Given the description of an element on the screen output the (x, y) to click on. 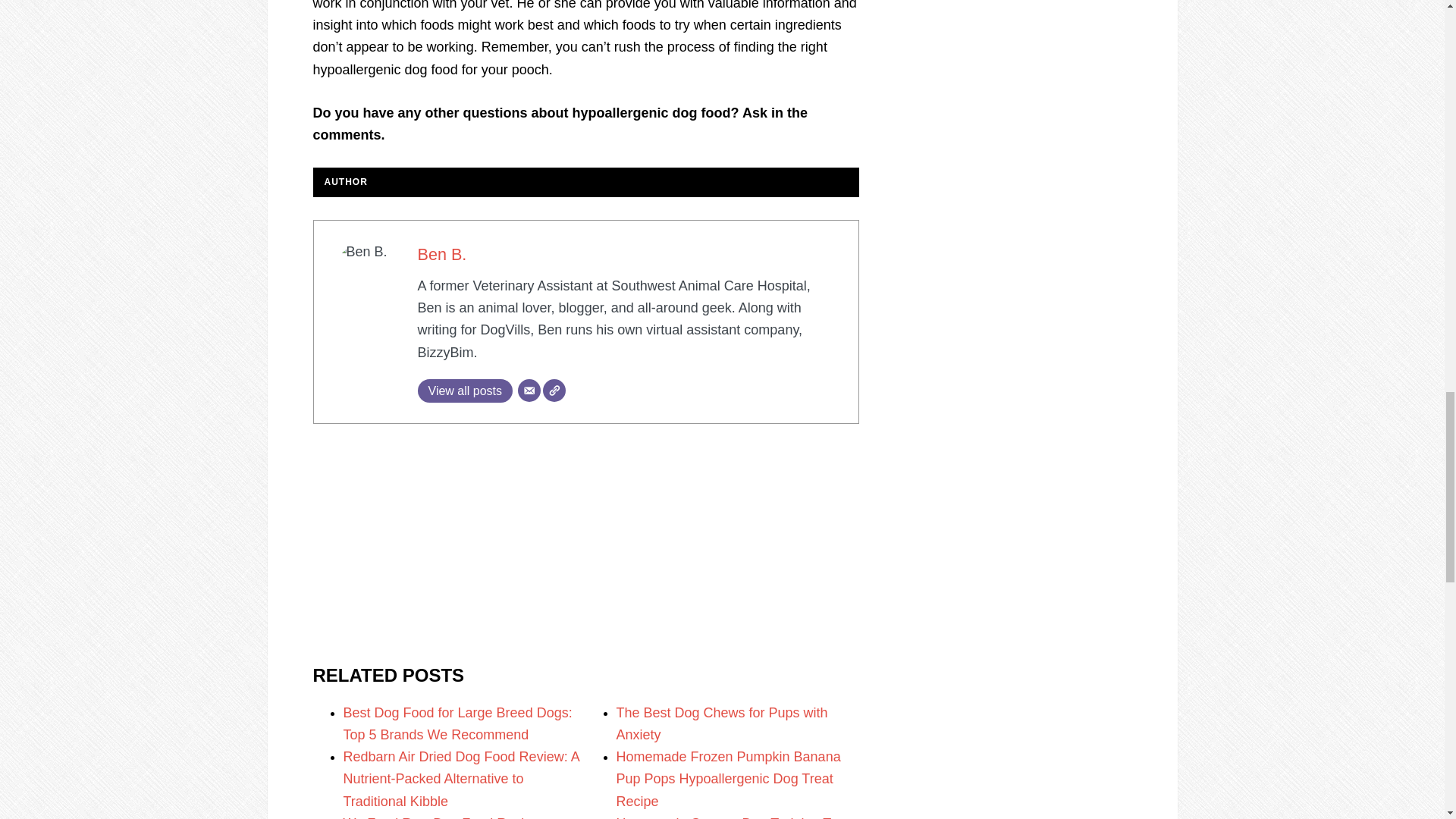
View all posts (464, 390)
Homemade Gummy Dog Training Treat Recipe (734, 817)
The Best Dog Chews for Pups with Anxiety (721, 723)
Ben B. (440, 253)
View all posts (464, 390)
Ben B. (440, 253)
